Given the description of an element on the screen output the (x, y) to click on. 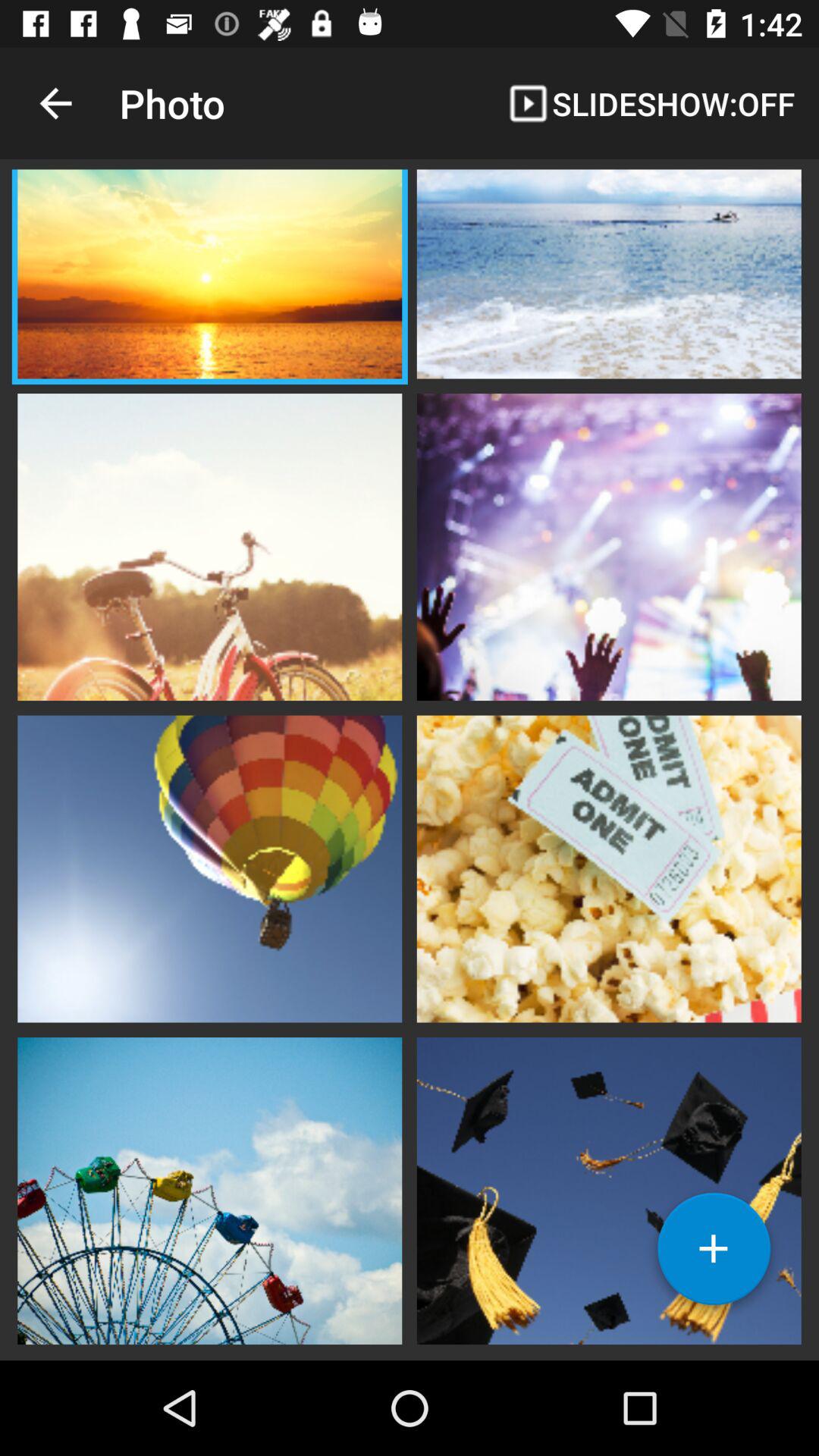
turn on icon next to photo app (55, 103)
